Given the description of an element on the screen output the (x, y) to click on. 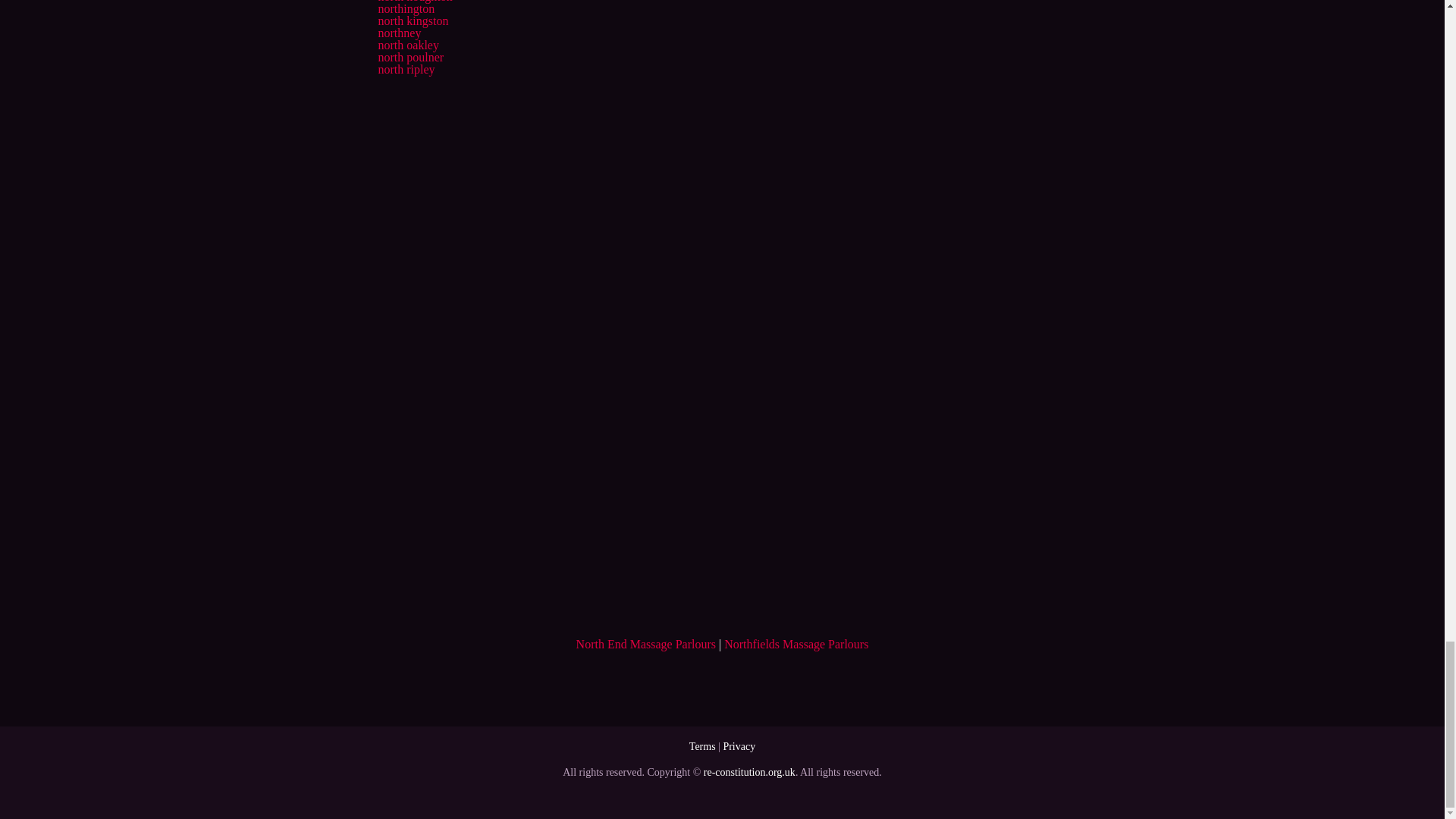
northney (398, 32)
Terms (702, 746)
northington (405, 8)
north oakley (407, 44)
Terms (702, 746)
Privacy (738, 746)
north kingston (412, 20)
re-constitution.org.uk (748, 772)
north poulner (410, 56)
Privacy (738, 746)
